Given the description of an element on the screen output the (x, y) to click on. 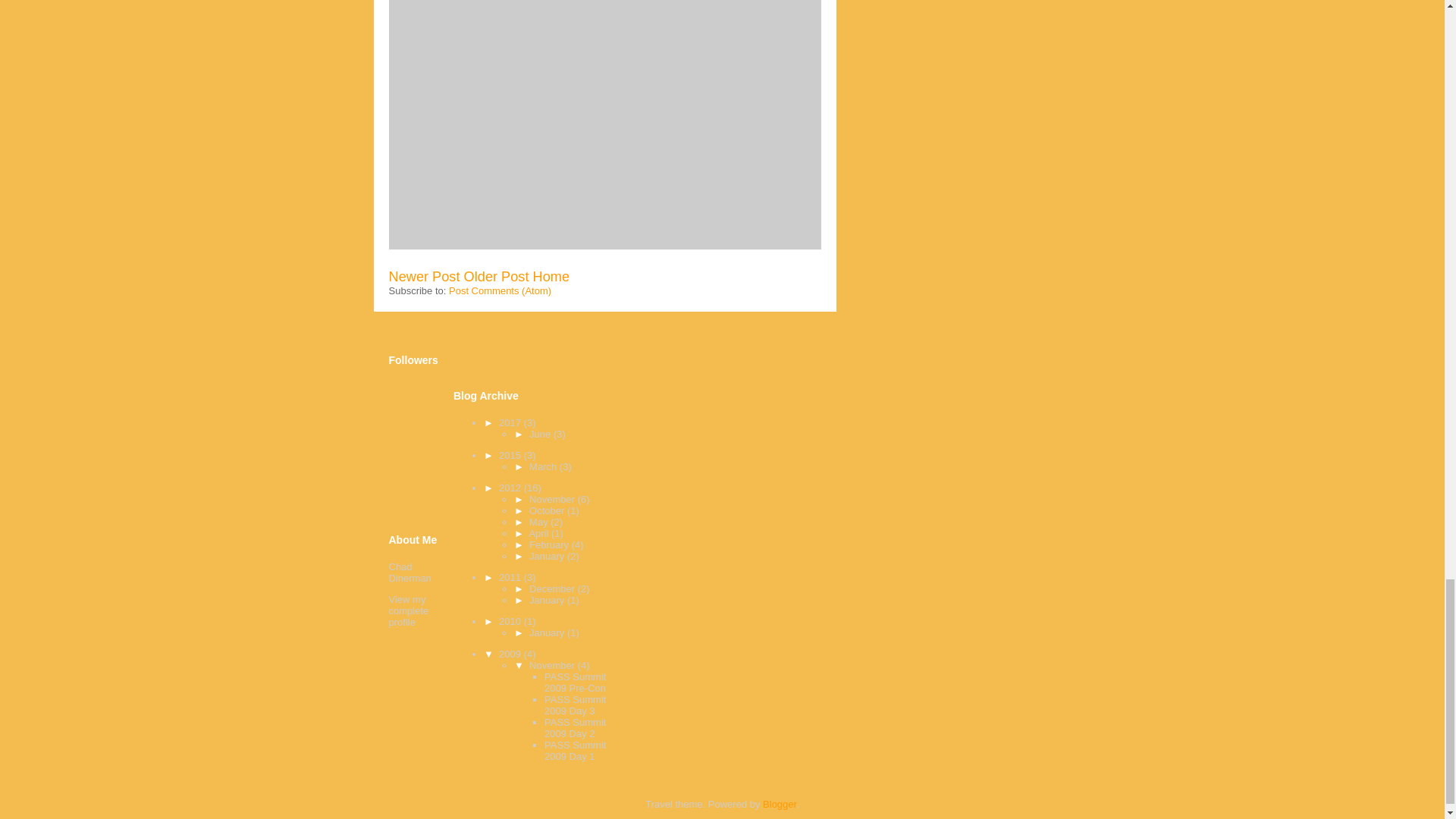
February (550, 544)
June (541, 433)
Older Post (496, 276)
Chad Dinerman (409, 572)
November (553, 499)
Home (551, 276)
April (539, 532)
View my complete profile (408, 610)
2012 (511, 487)
March (544, 466)
2017 (511, 422)
October (548, 510)
2015 (511, 455)
Newer Post (424, 276)
Newer Post (424, 276)
